Given the description of an element on the screen output the (x, y) to click on. 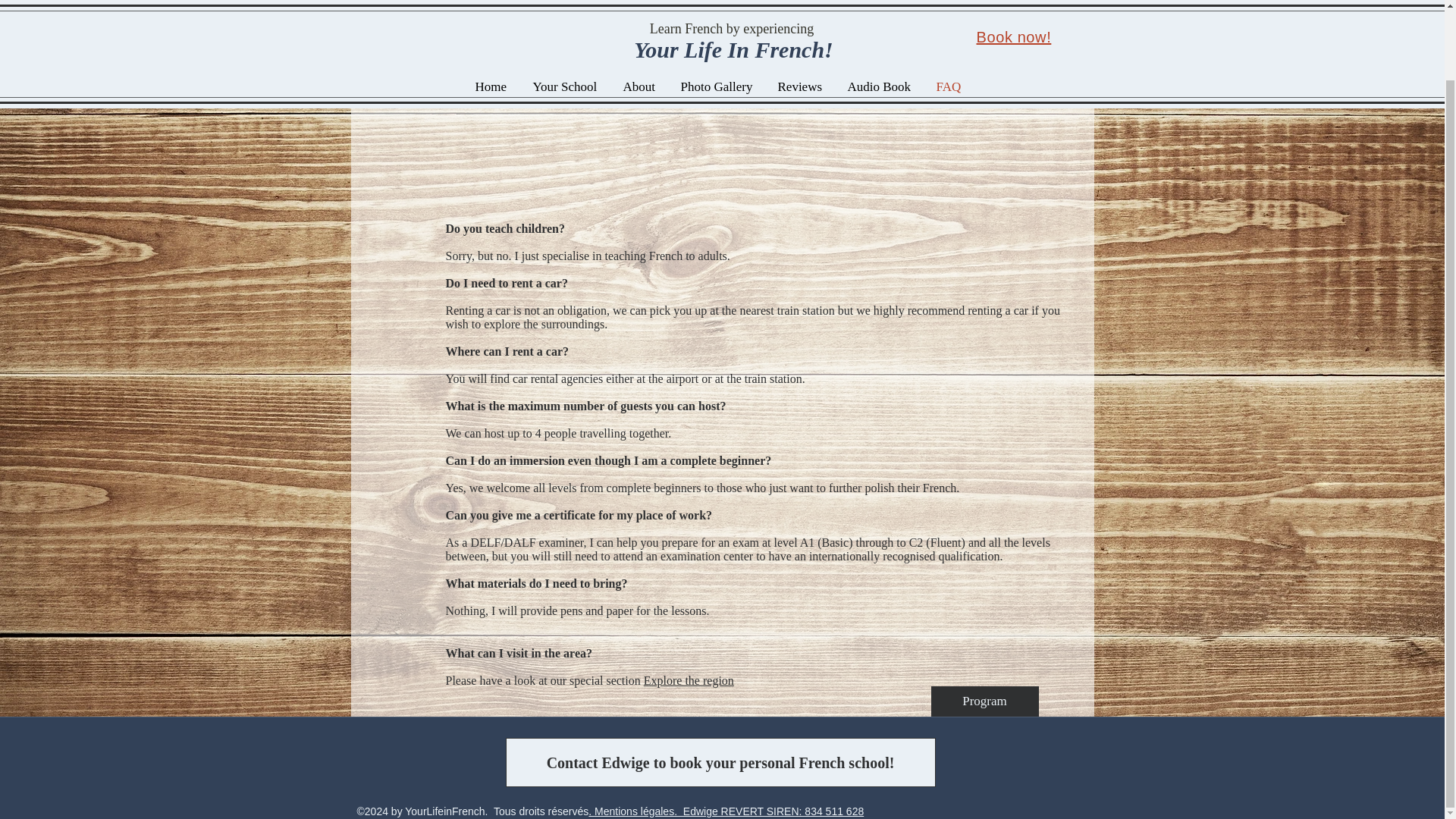
FAQ (949, 11)
Audio Book (879, 11)
Contact Edwige to book your personal French school! (719, 762)
Photo Gallery (716, 11)
Program (985, 701)
Explore the region (688, 680)
Home (492, 11)
Reviews (800, 11)
